Given the description of an element on the screen output the (x, y) to click on. 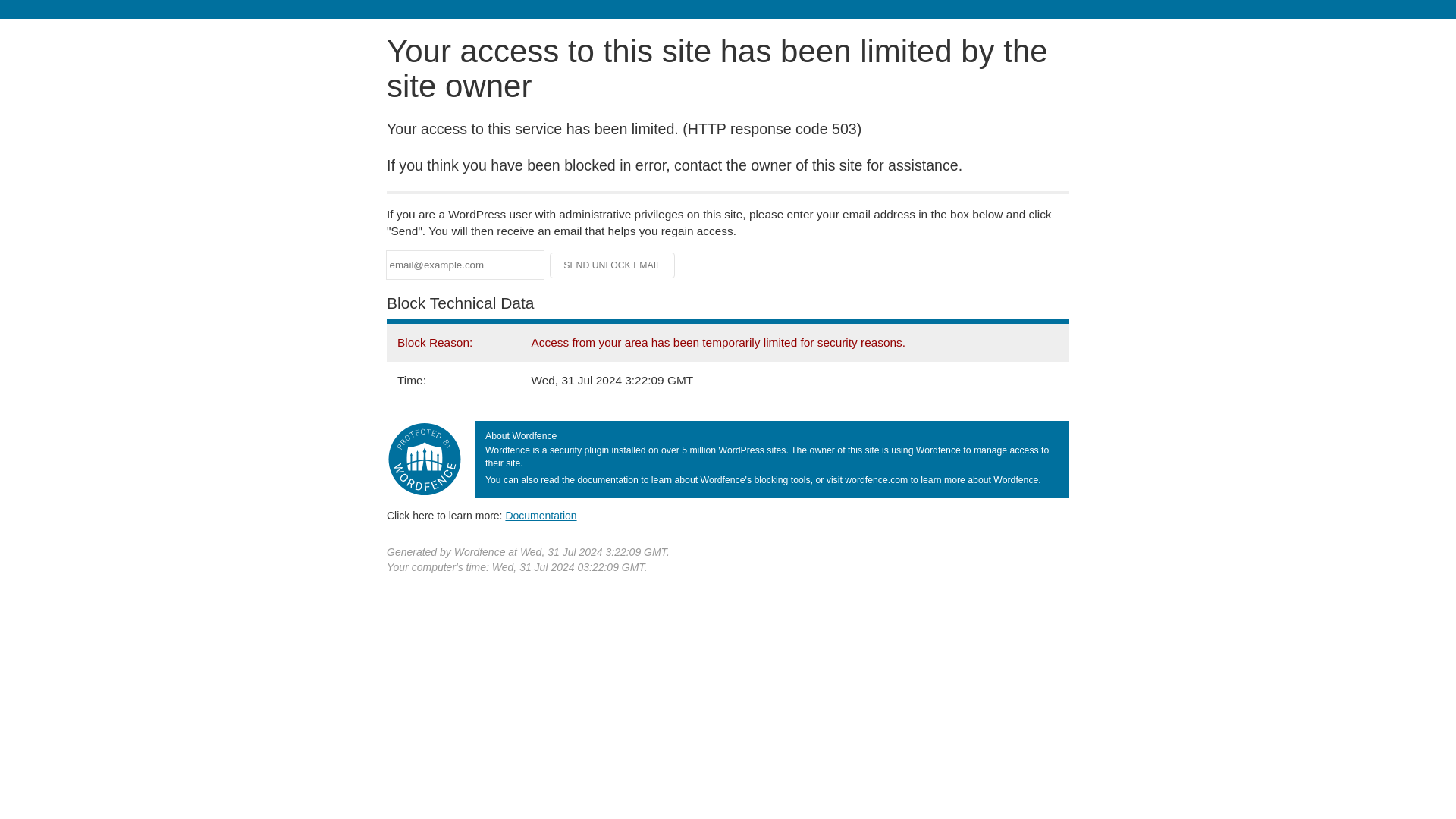
Documentation (540, 515)
Send Unlock Email (612, 265)
Send Unlock Email (612, 265)
